Given the description of an element on the screen output the (x, y) to click on. 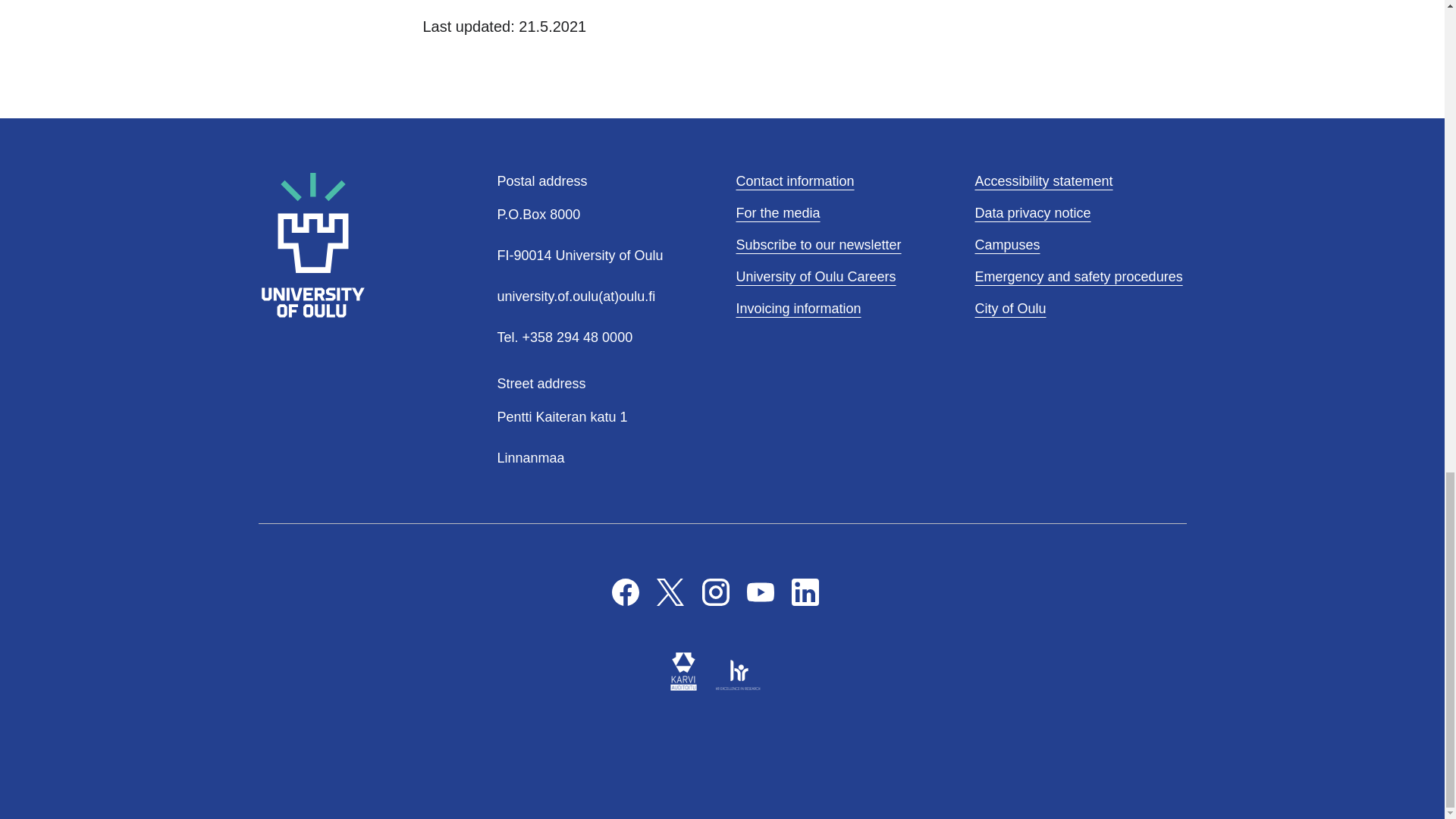
Instagram (715, 592)
Youtube (760, 592)
Facebook (625, 592)
LinkedIn (805, 592)
